Given the description of an element on the screen output the (x, y) to click on. 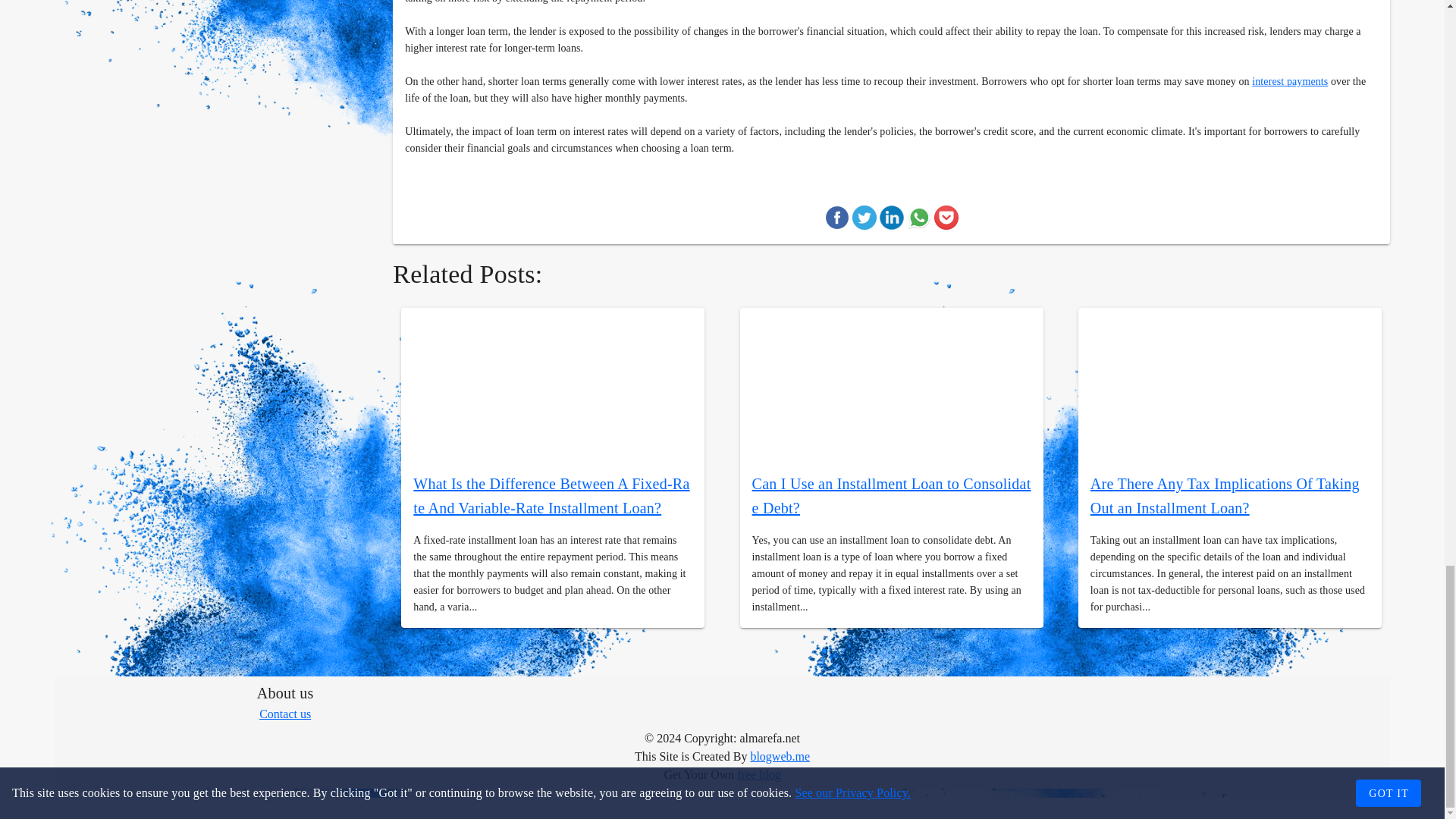
interest payments (1289, 81)
